Given the description of an element on the screen output the (x, y) to click on. 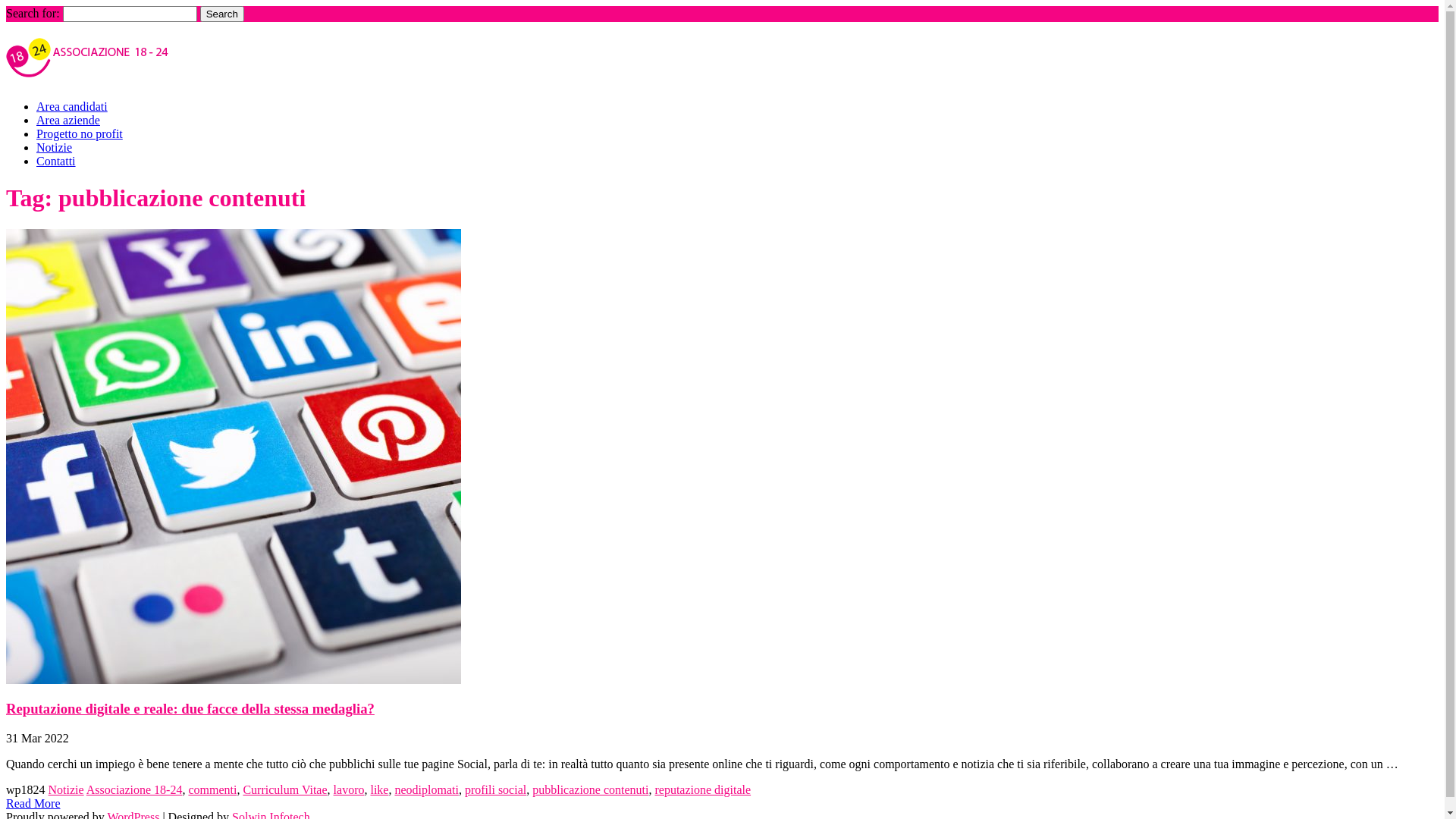
commenti Element type: text (212, 789)
Progetto no profit Element type: text (79, 133)
Area candidati Element type: text (71, 106)
Search Element type: text (222, 13)
like Element type: text (379, 789)
Notizie Element type: text (66, 789)
Area aziende Element type: text (68, 119)
Notizie Element type: text (54, 147)
reputazione digitale Element type: text (702, 789)
pubblicazione contenuti Element type: text (590, 789)
Associazione 18-24 Element type: text (134, 789)
profili social Element type: text (495, 789)
Read More Element type: text (33, 803)
Contatti Element type: text (55, 160)
lavoro Element type: text (348, 789)
neodiplomati Element type: text (426, 789)
Curriculum Vitae Element type: text (284, 789)
